Given the description of an element on the screen output the (x, y) to click on. 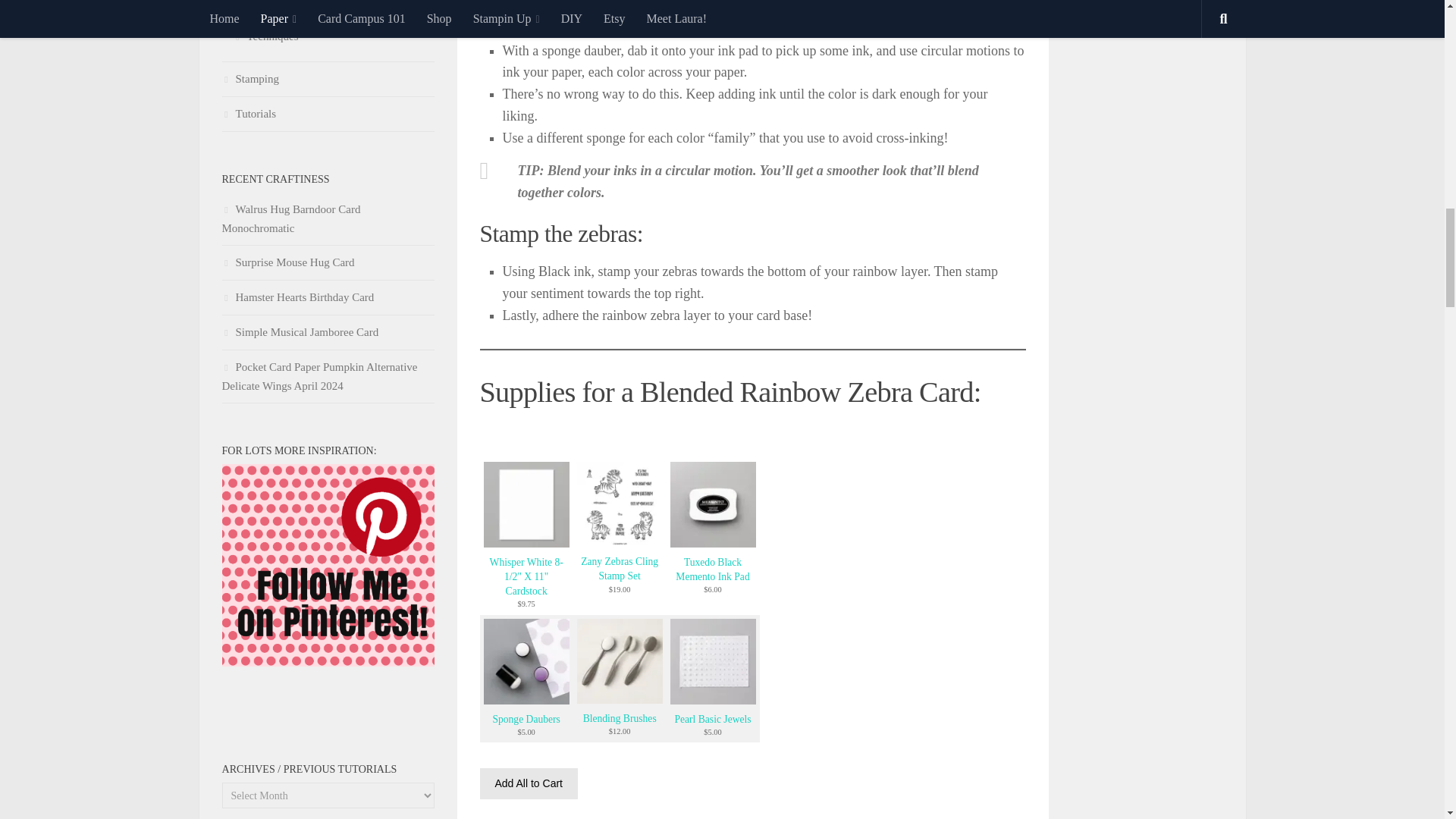
Zany Zebras Cling Stamp Set (619, 504)
Zany Zebras Cling Stamp Set (619, 568)
Tuxedo Black Memento Ink Pad (712, 504)
Sponge Daubers (526, 699)
Zany Zebras Cling Stamp Set (619, 543)
Tuxedo Black Memento Ink Pad (712, 569)
Tuxedo Black Memento Ink Pad (712, 543)
